Given the description of an element on the screen output the (x, y) to click on. 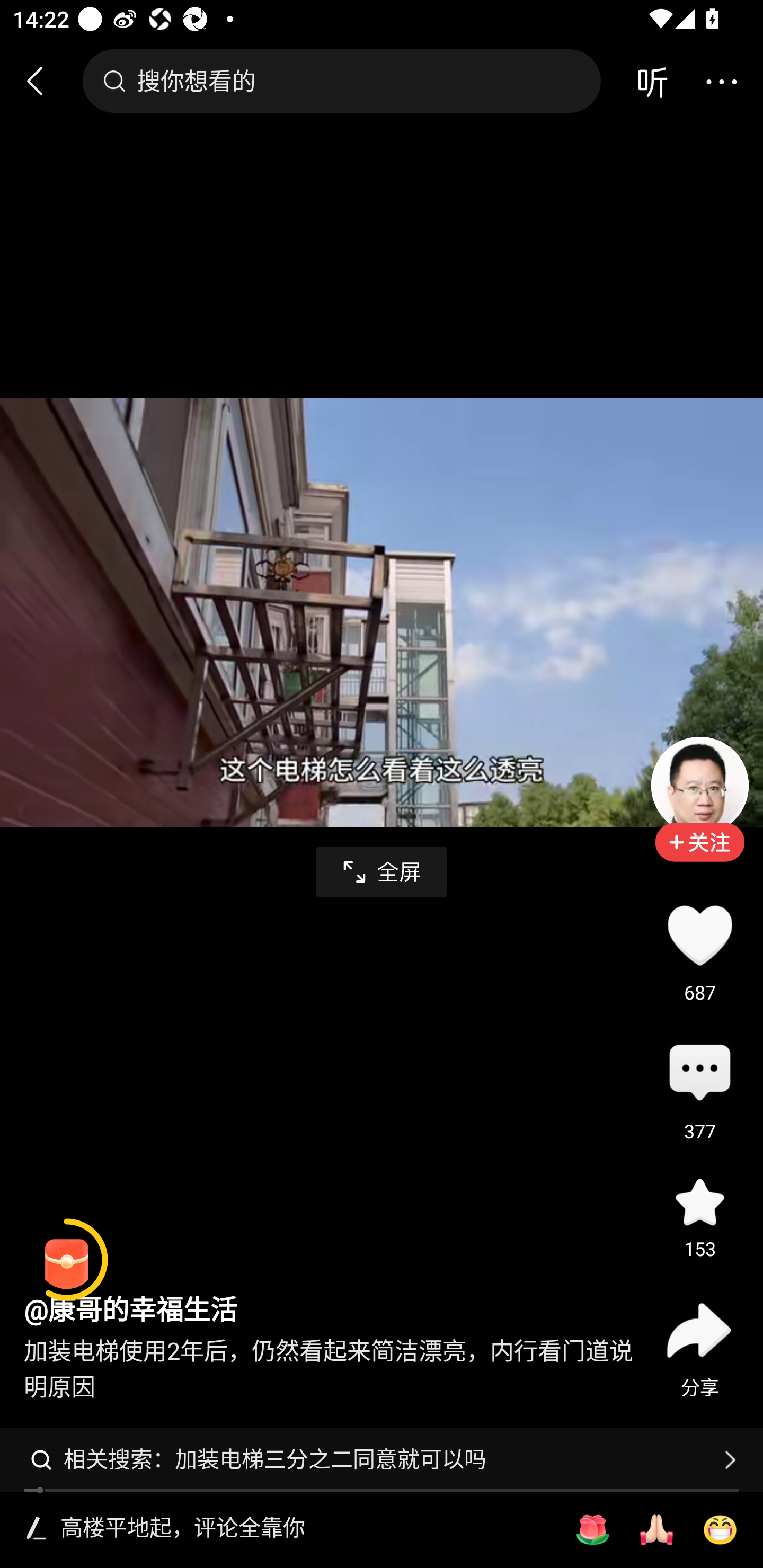
搜你想看的 搜索框，搜你想看的 (341, 80)
返回 (43, 80)
音频 (651, 80)
更多操作 (720, 80)
头像 (699, 785)
全屏播放 (381, 871)
点赞687 687 (699, 935)
评论377 评论 377 (699, 1074)
收藏 153 (699, 1201)
阅读赚金币 (66, 1259)
分享 (699, 1330)
@康哥的幸福生活 (130, 1310)
相关搜索：加装电梯三分之二同意就可以吗 (381, 1459)
高楼平地起，评论全靠你 (305, 1529)
[玫瑰] (592, 1530)
[祈祷] (656, 1530)
[呲牙] (719, 1530)
